Given the description of an element on the screen output the (x, y) to click on. 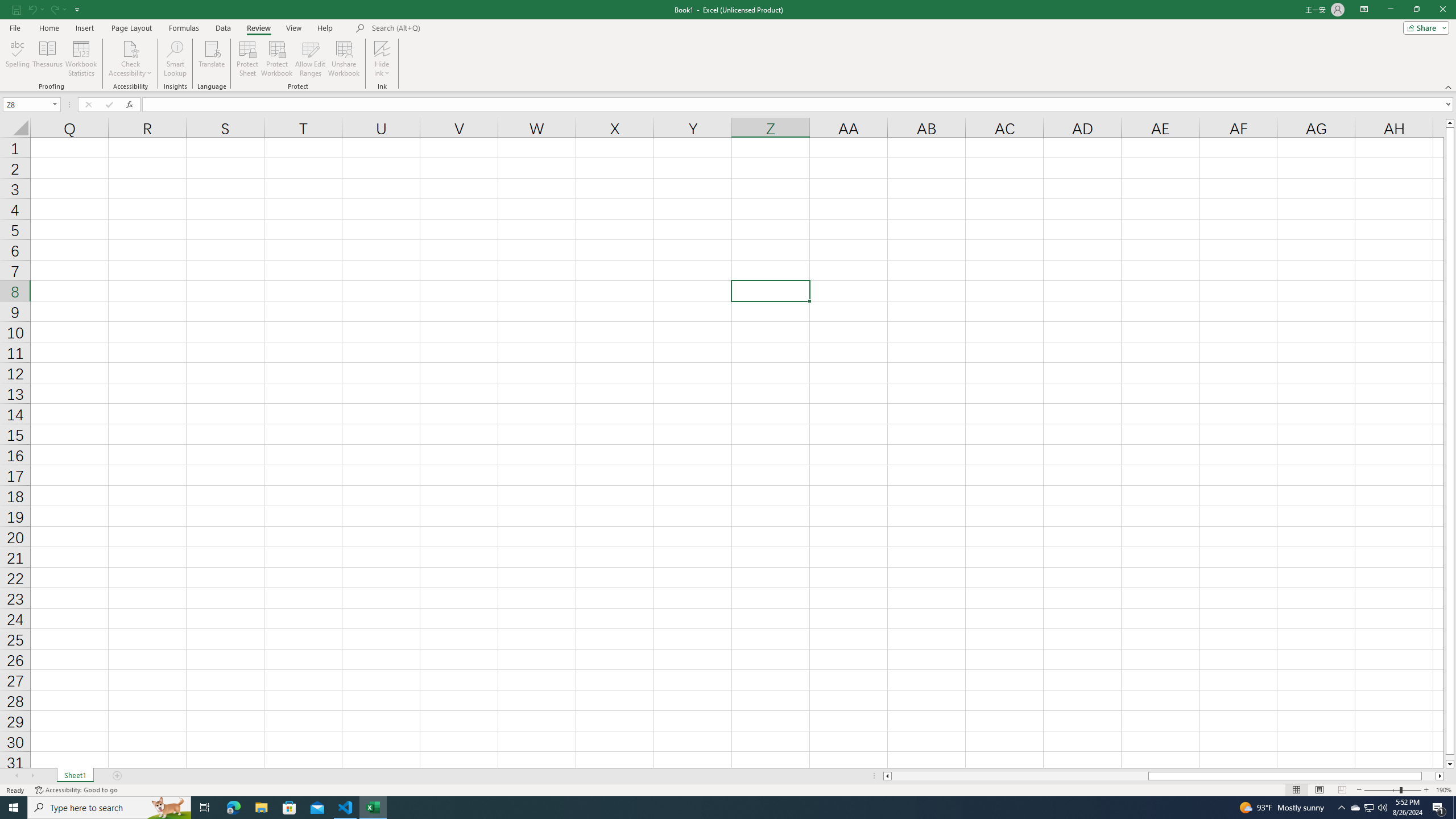
Hide Ink (381, 48)
Hide Ink (381, 58)
Check Accessibility (129, 48)
Page left (1019, 775)
Protect Workbook... (277, 58)
Unshare Workbook (344, 58)
